Given the description of an element on the screen output the (x, y) to click on. 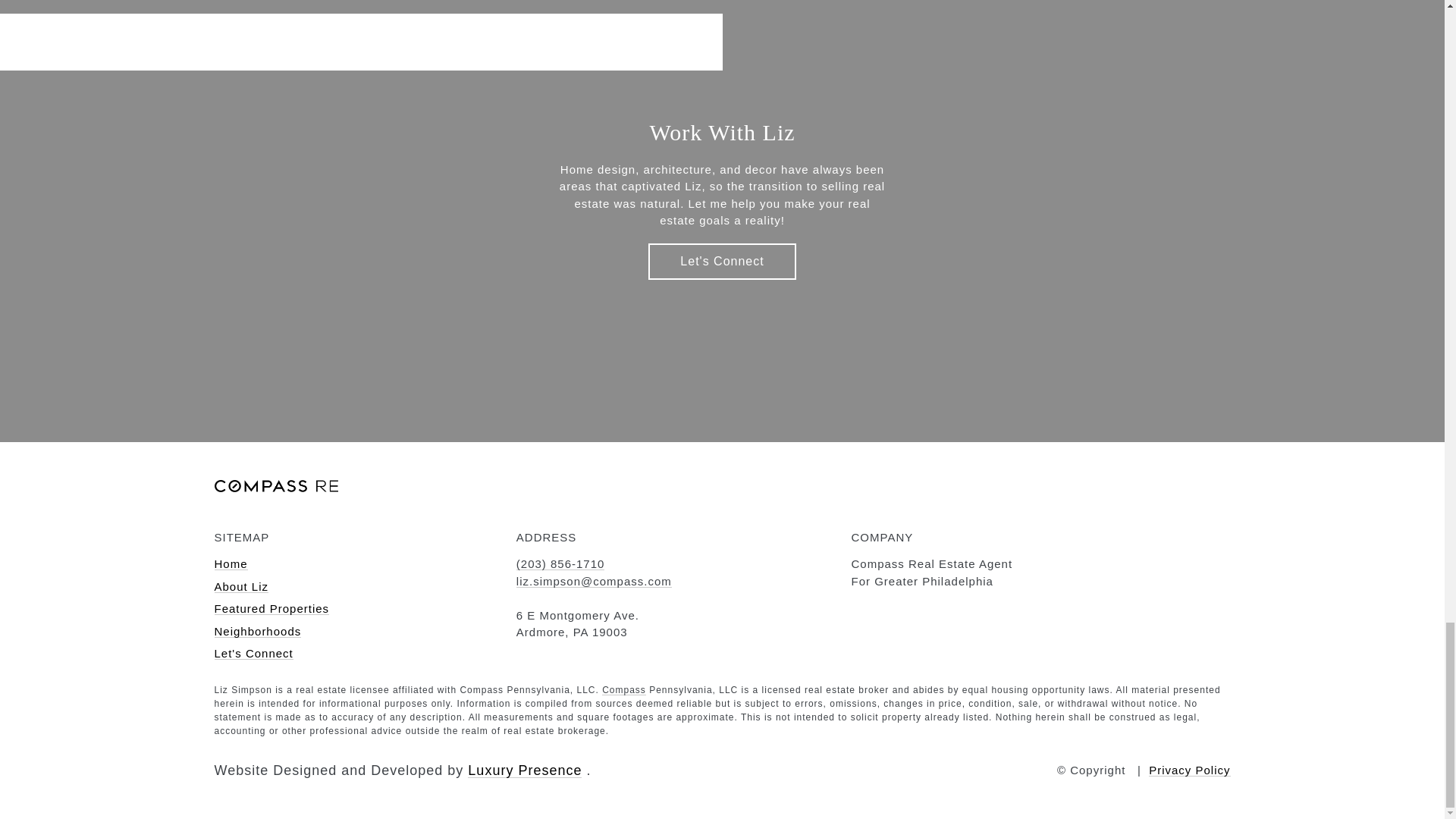
Featured Properties (271, 608)
Let's Connect (720, 261)
About Liz (240, 585)
Home (230, 563)
